Given the description of an element on the screen output the (x, y) to click on. 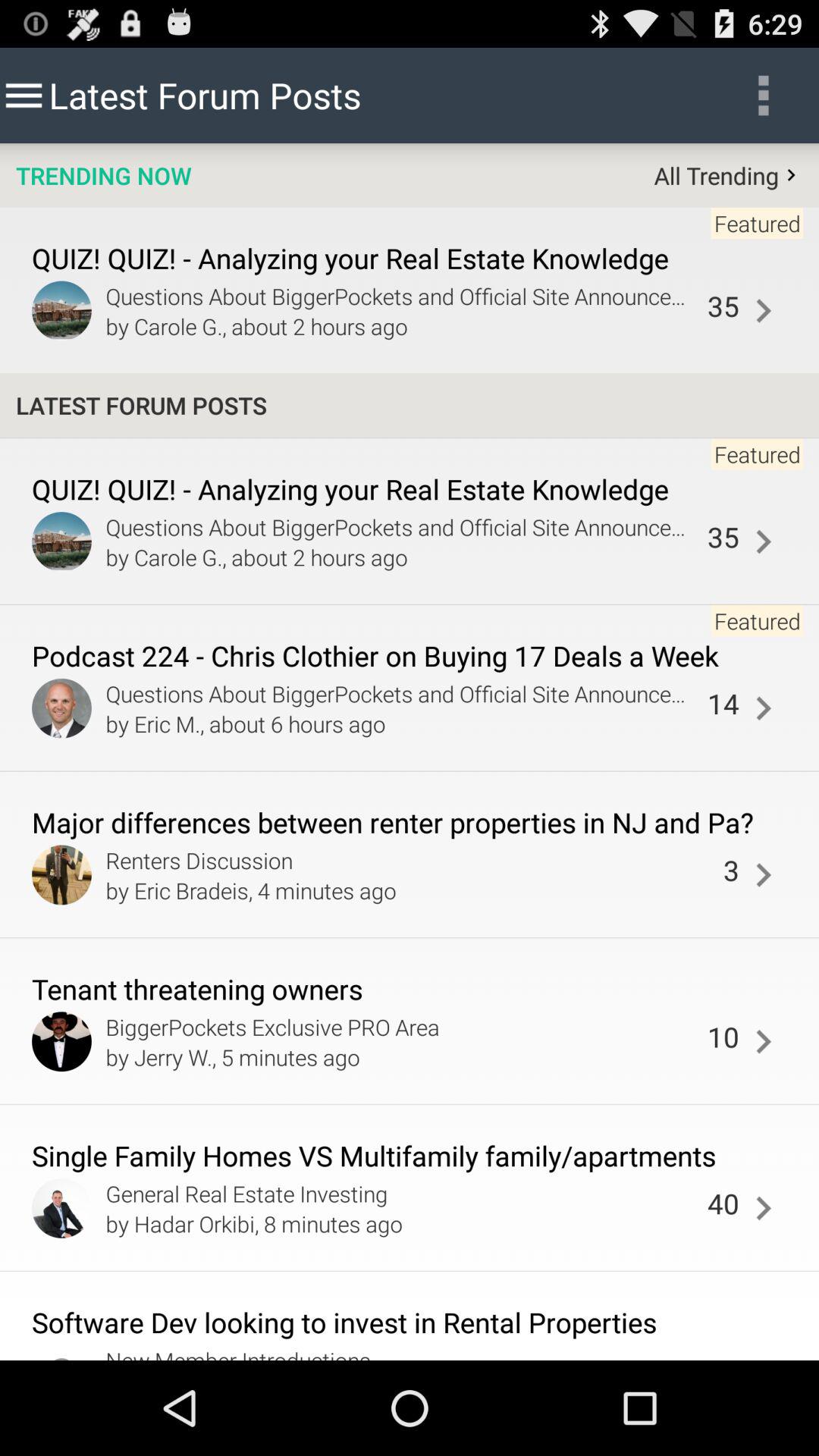
select the icon above single family homes item (723, 1036)
